Given the description of an element on the screen output the (x, y) to click on. 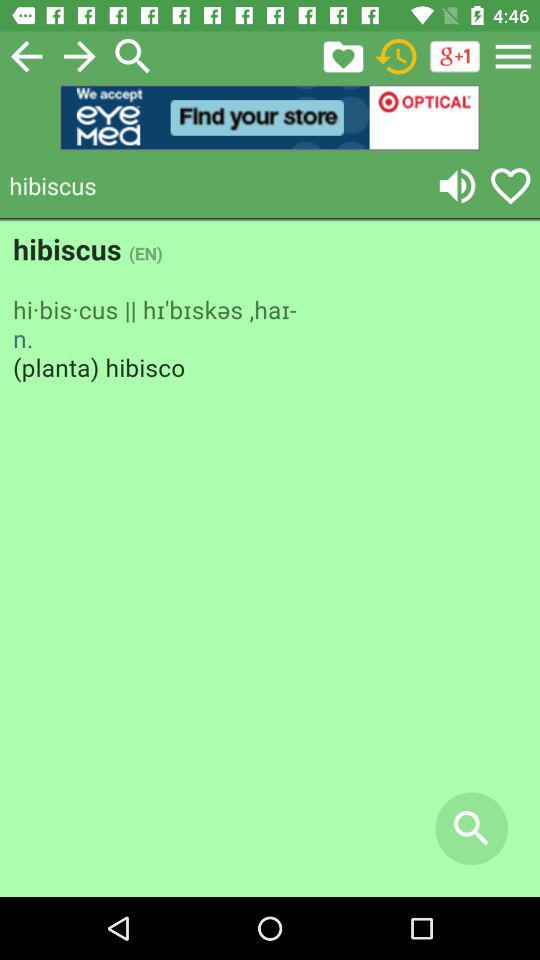
open an advertisements (270, 117)
